Given the description of an element on the screen output the (x, y) to click on. 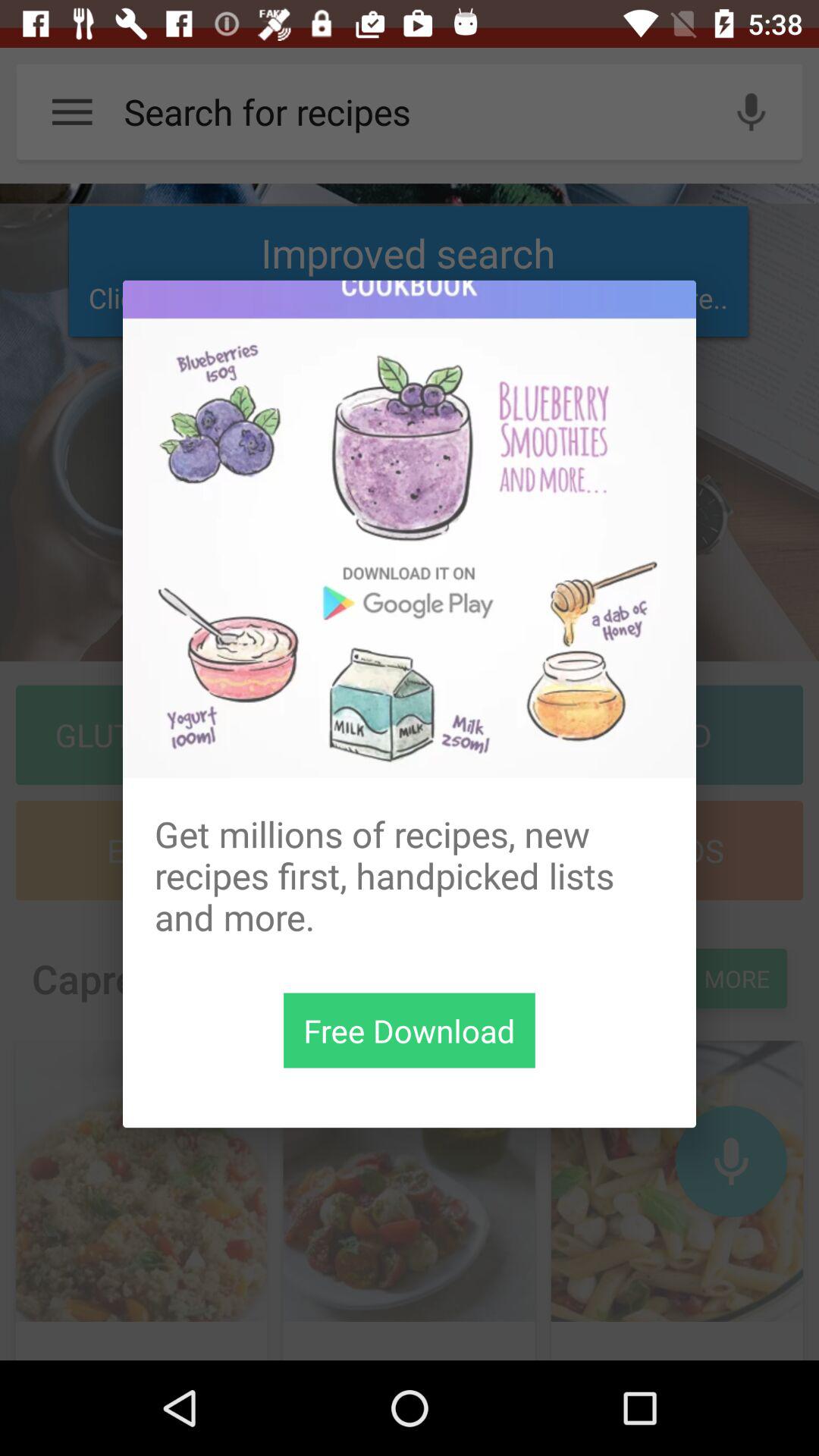
download it on google play (409, 529)
